Given the description of an element on the screen output the (x, y) to click on. 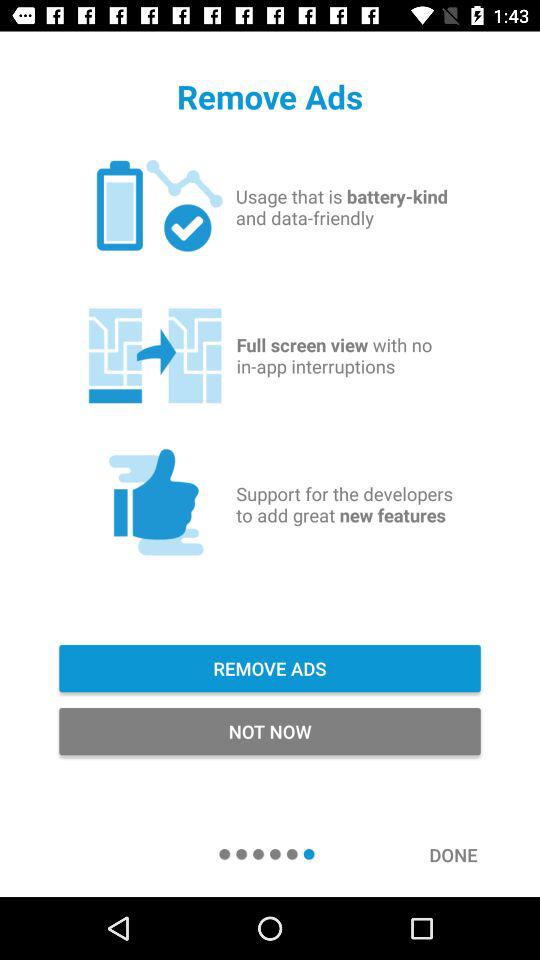
launch the not now item (269, 731)
